Given the description of an element on the screen output the (x, y) to click on. 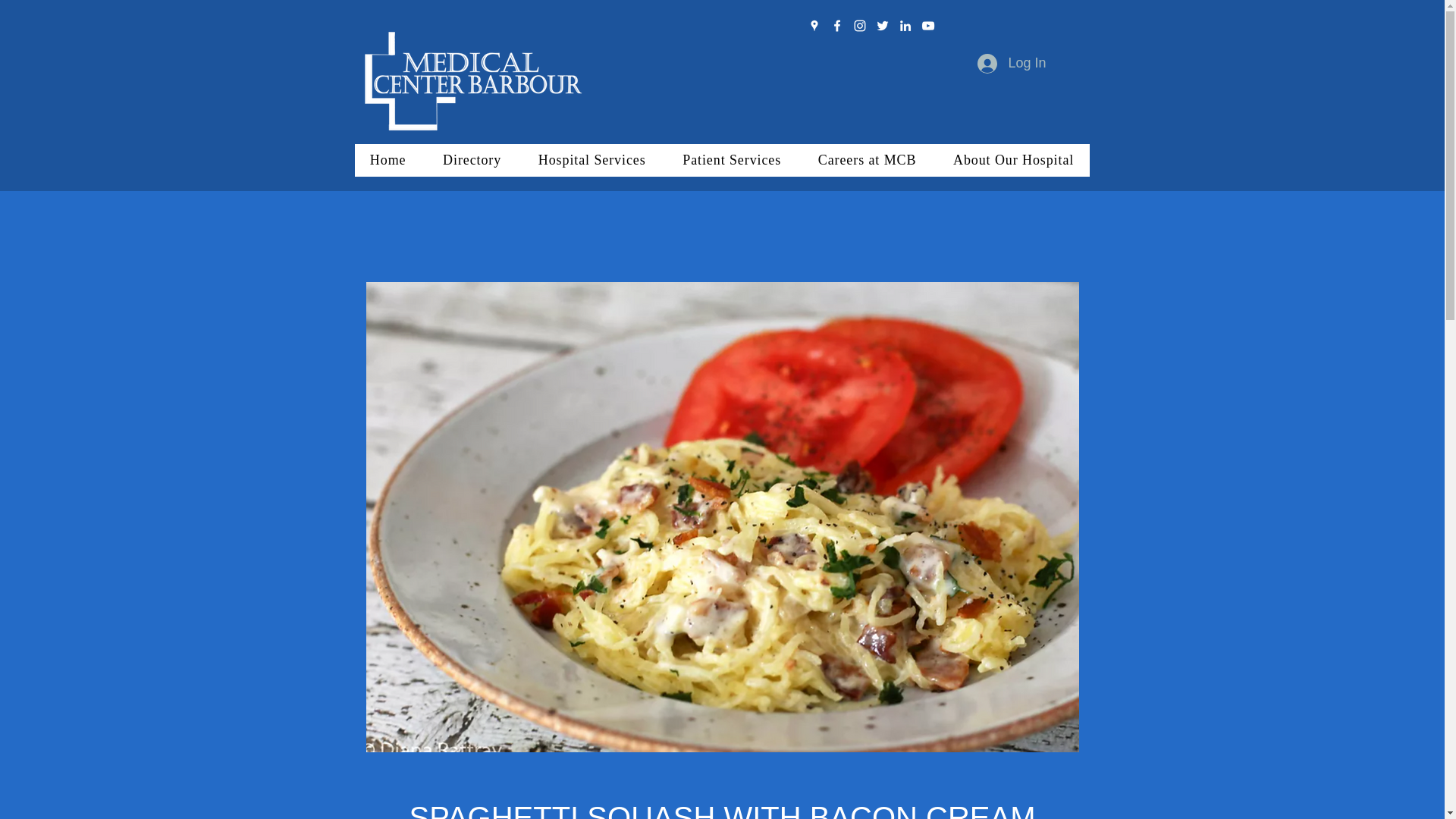
About Our Hospital (1013, 160)
Hospital Services (591, 160)
Careers at MCB (866, 160)
Log In (1011, 63)
Home (388, 160)
